Given the description of an element on the screen output the (x, y) to click on. 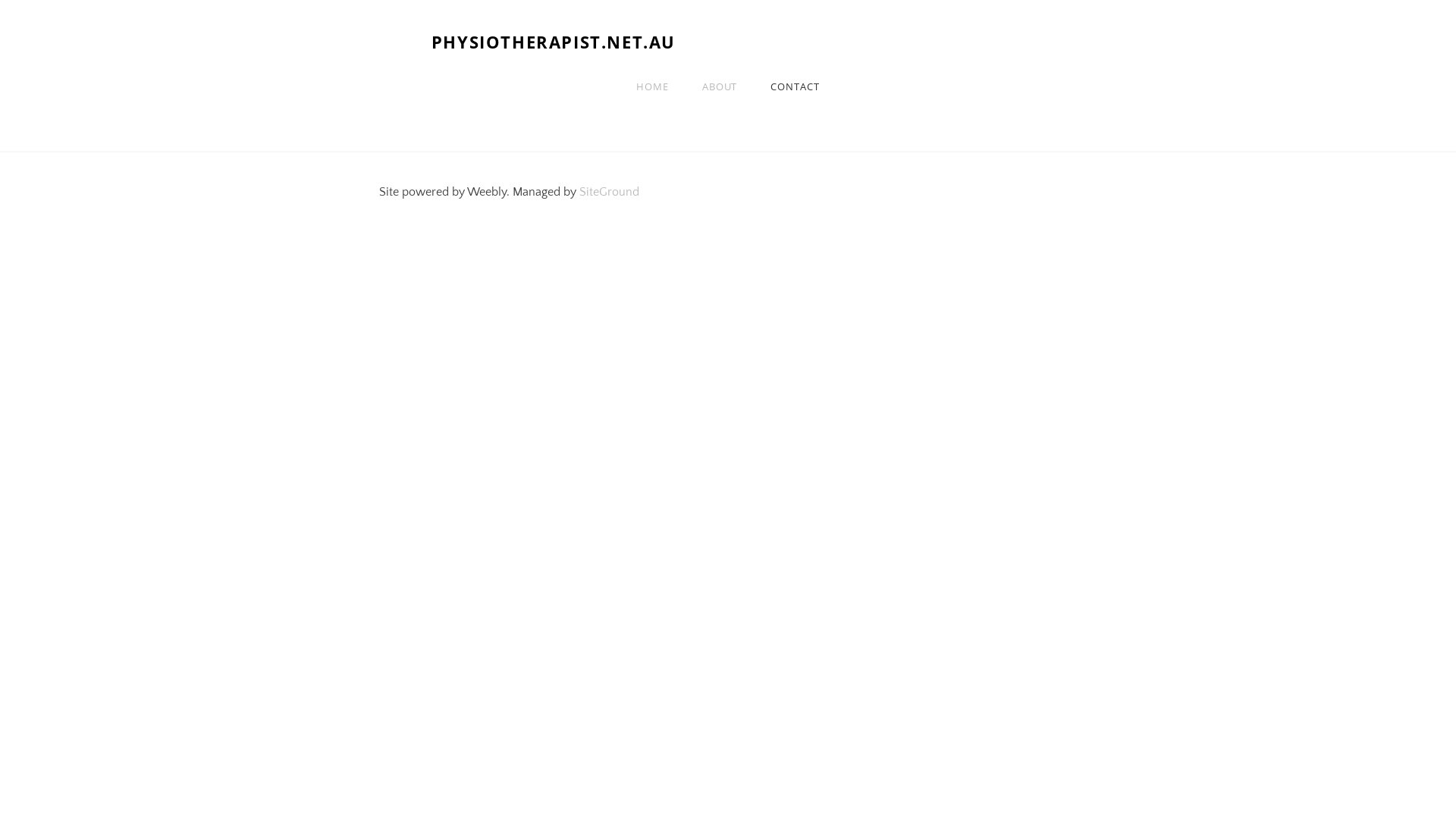
ABOUT Element type: text (719, 86)
HOME Element type: text (652, 86)
SiteGround Element type: text (609, 191)
PHYSIOTHERAPIST.NET.AU Element type: text (728, 41)
CONTACT Element type: text (794, 86)
